Given the description of an element on the screen output the (x, y) to click on. 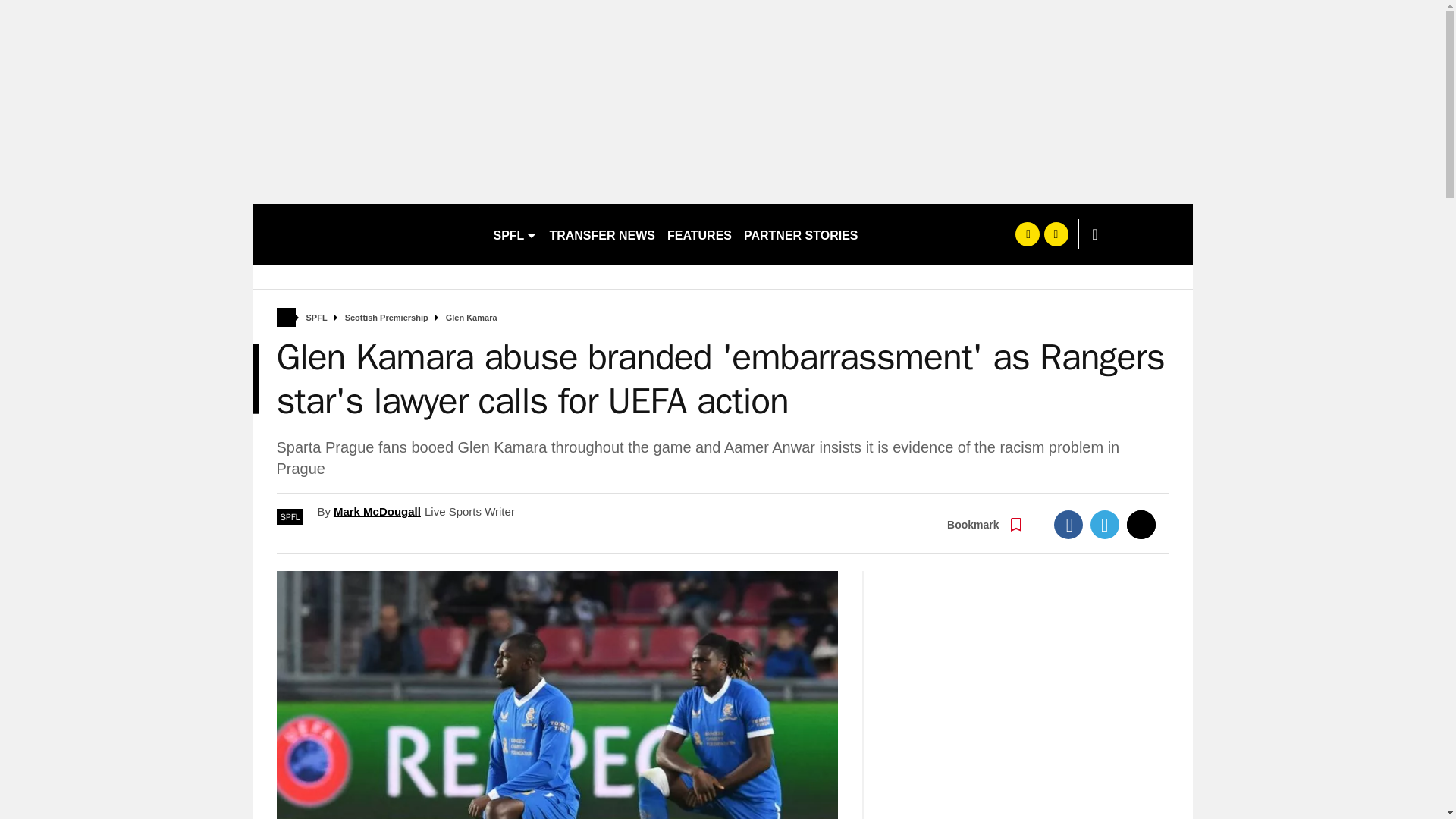
Scottish Premiership (386, 317)
SPFL (514, 233)
twitter (1055, 233)
frontpage (285, 316)
footballscotland (365, 233)
Twitter (1104, 524)
facebook (1026, 233)
FEATURES (699, 233)
SPFL (289, 516)
PARTNER STORIES (801, 233)
TRANSFER NEWS (602, 233)
Facebook (1068, 524)
SPFL (316, 317)
Glen Kamara (471, 317)
